Given the description of an element on the screen output the (x, y) to click on. 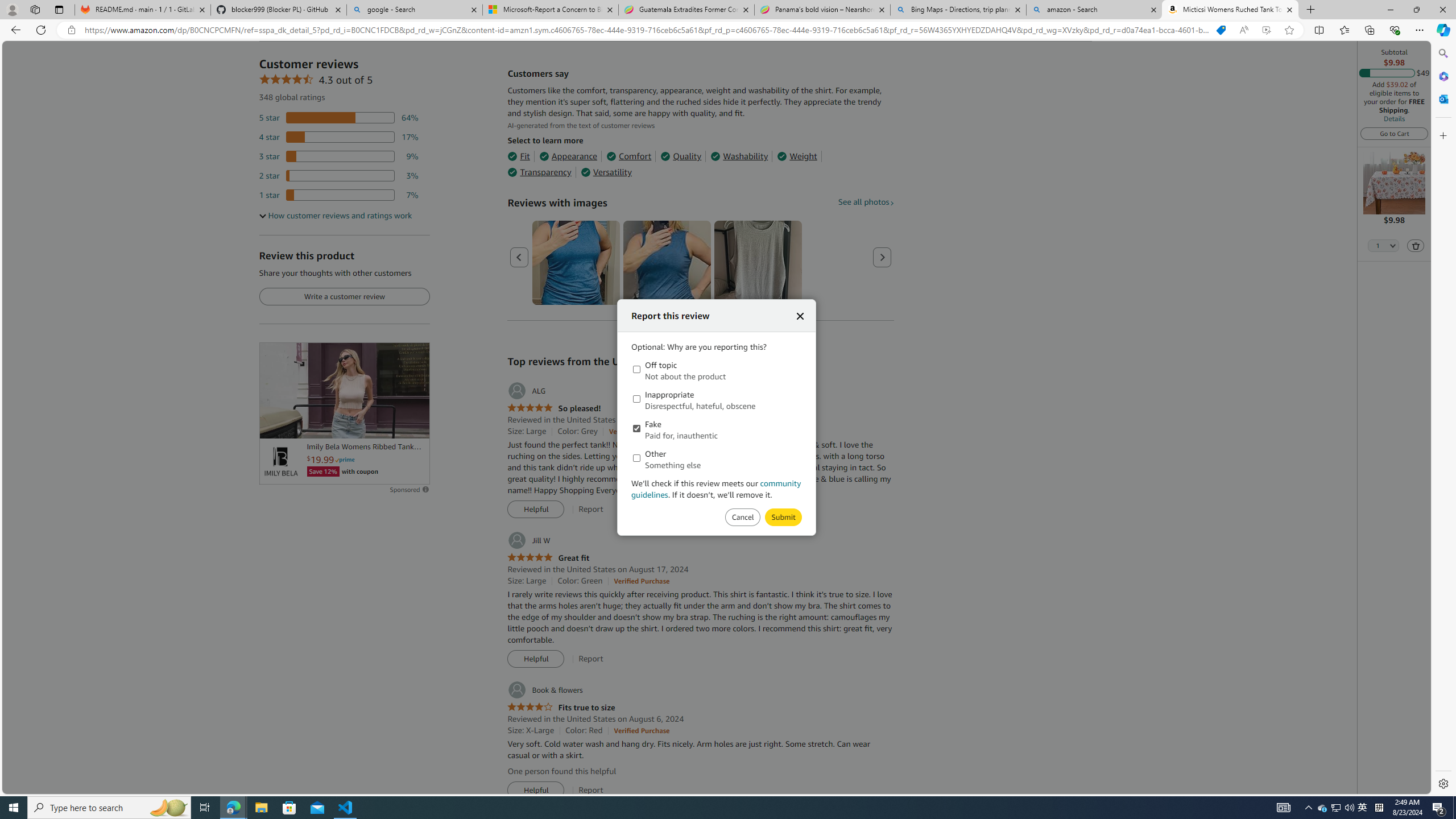
Unmute (414, 424)
5.0 out of 5 stars So pleased! (553, 408)
amazon - Search (1094, 9)
64 percent of reviews have 5 stars (339, 117)
Washability (739, 156)
Verified Purchase (640, 730)
Customer Image (758, 262)
Mark this review for abuse BUTTON (782, 517)
Customer Image (758, 262)
Helpful (536, 790)
